Given the description of an element on the screen output the (x, y) to click on. 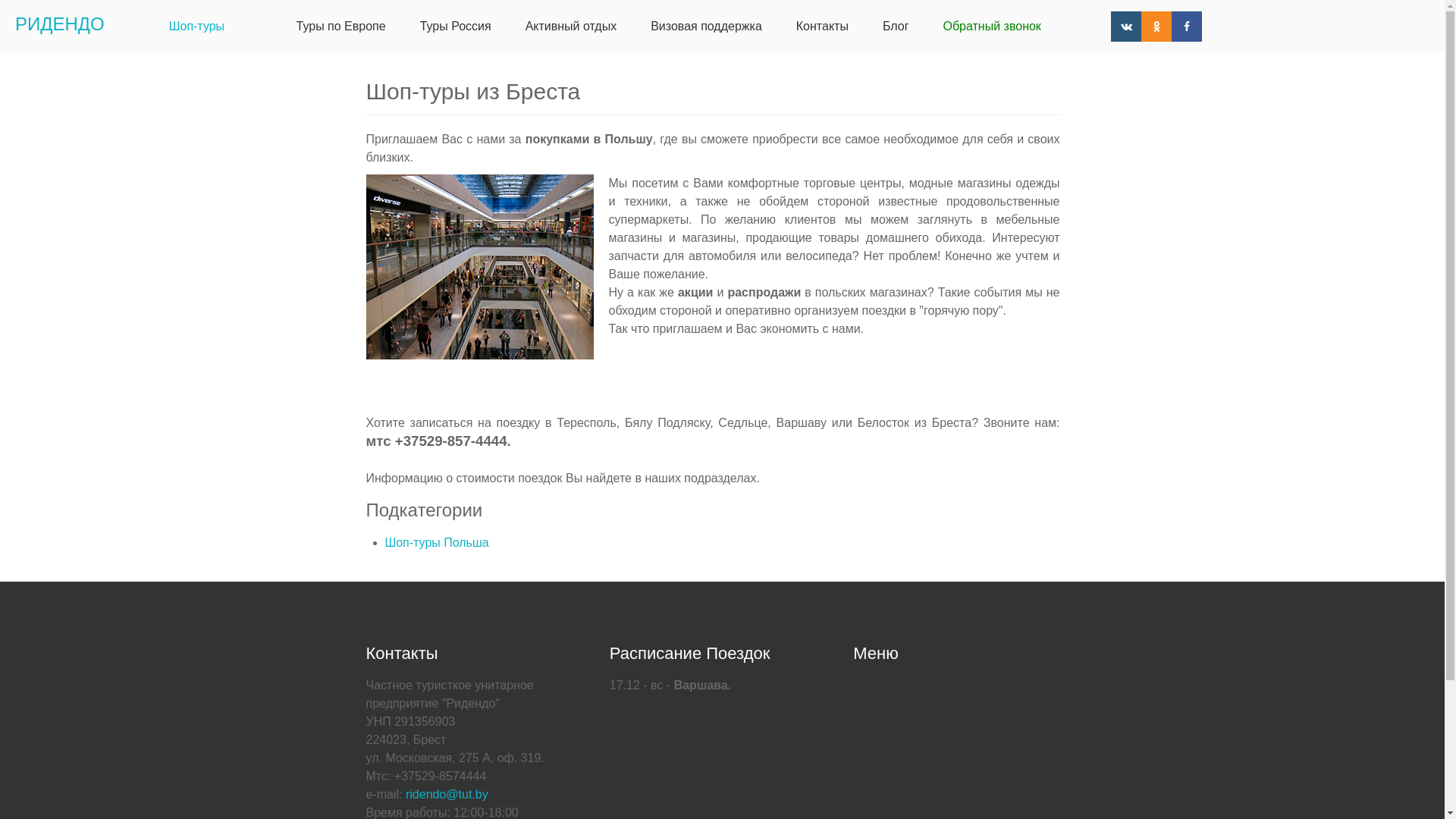
  Element type: text (260, 26)
ridendo@tut.by Element type: text (446, 793)
